Given the description of an element on the screen output the (x, y) to click on. 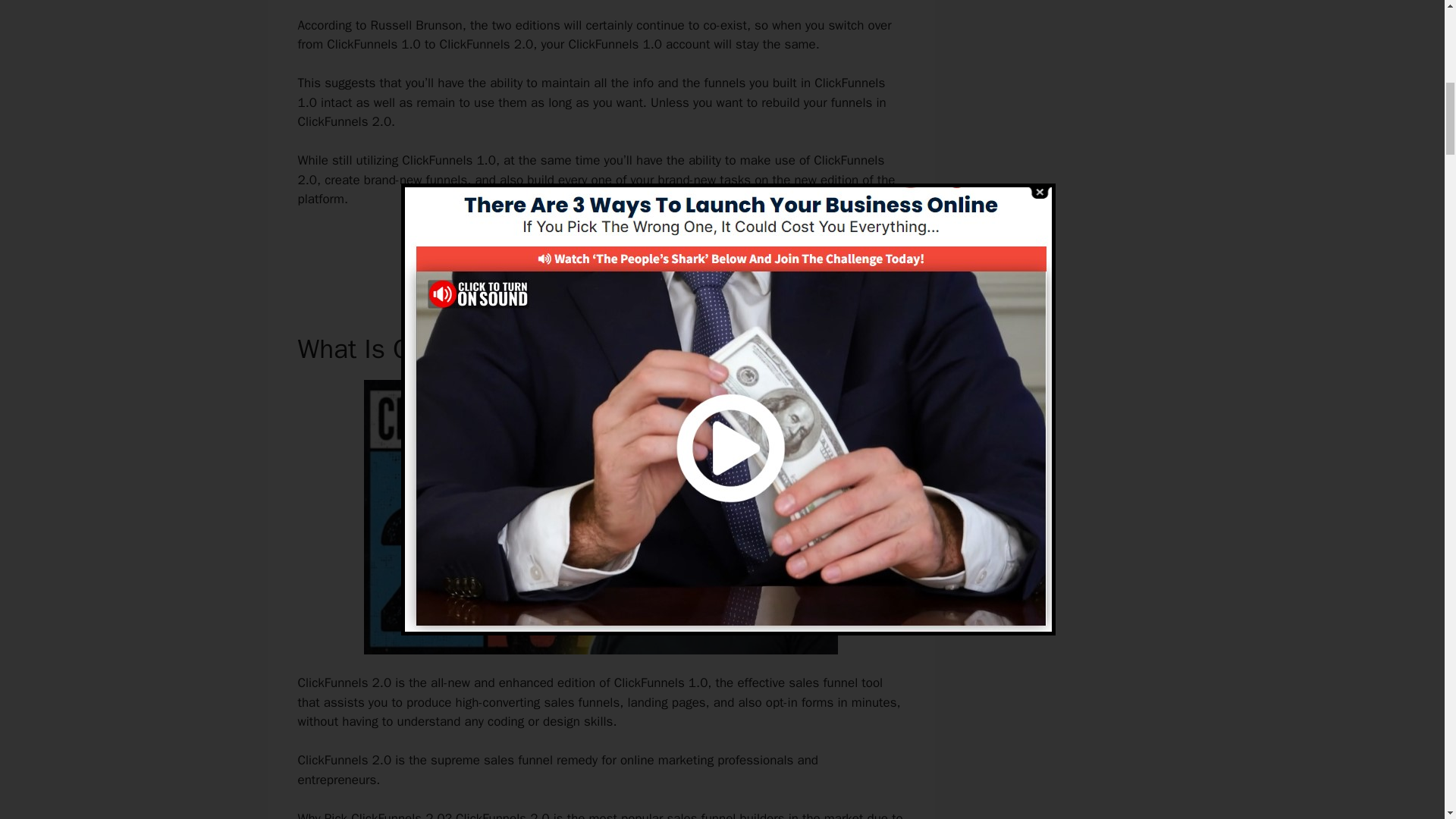
Click Here To Learn More On CF.2.0 (601, 250)
